Given the description of an element on the screen output the (x, y) to click on. 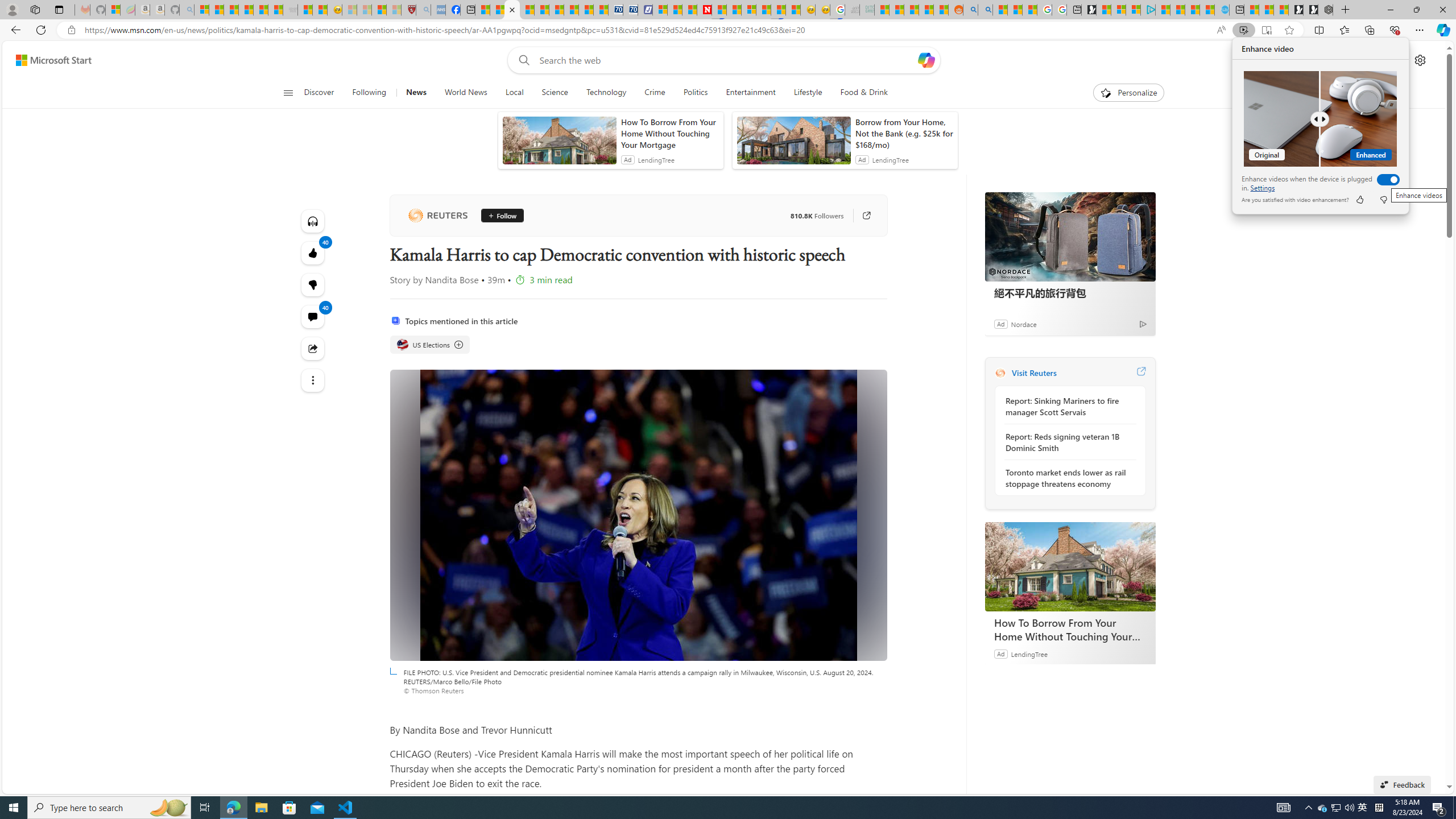
Politics (695, 92)
40 Like (312, 252)
Comparision (1319, 118)
Listen to this article (312, 220)
New Report Confirms 2023 Was Record Hot | Watch (260, 9)
Home | Sky Blue Bikes - Sky Blue Bikes (1221, 9)
Technology (606, 92)
AutomationID: 4105 (1362, 807)
Science (1283, 807)
Cheap Hotels - Save70.com (554, 92)
Technology (630, 9)
anim-content (605, 92)
